Given the description of an element on the screen output the (x, y) to click on. 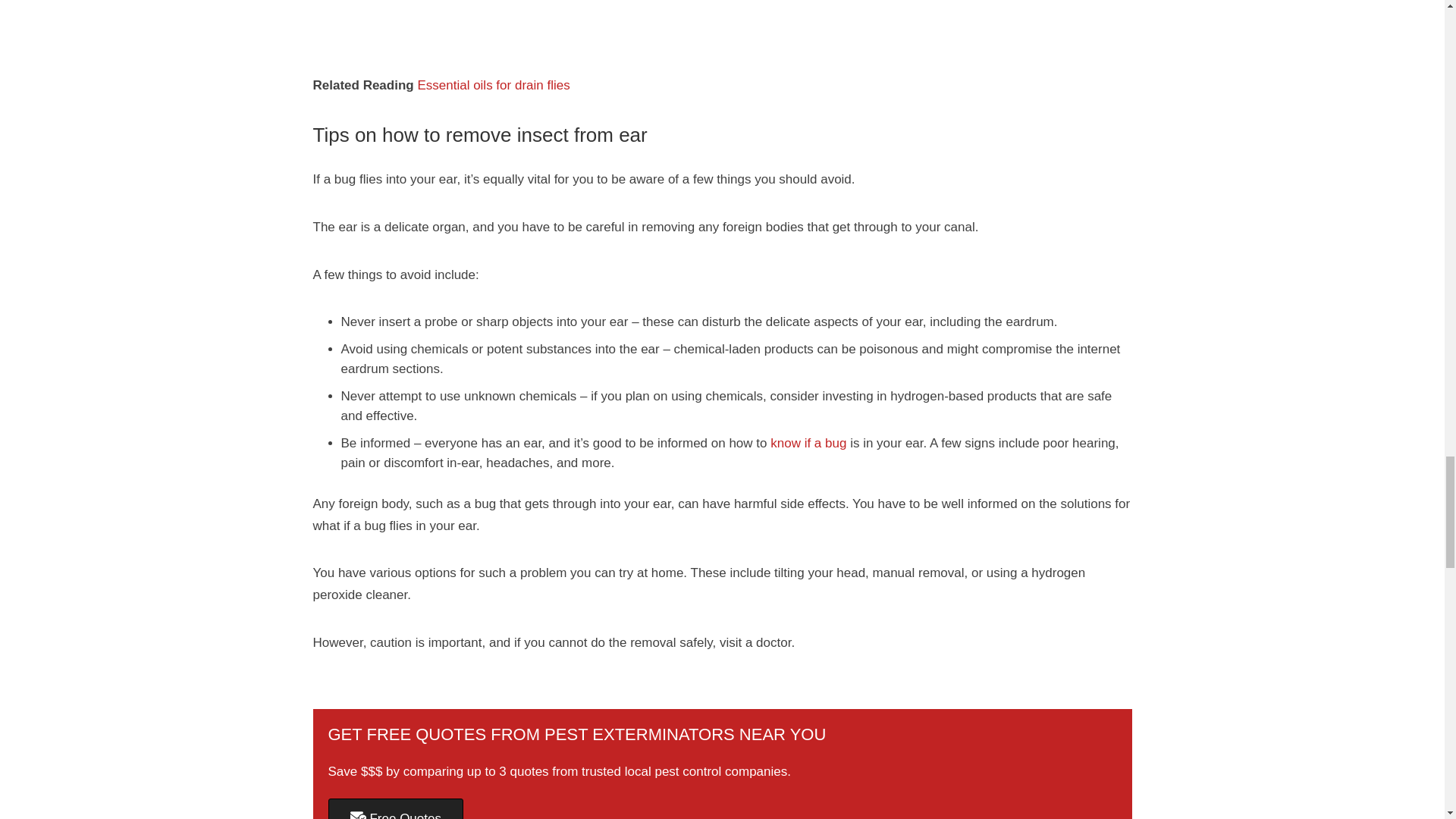
An Insect Flew Into Your Ear, What Should You Do Next? (722, 27)
Free Quotes (395, 808)
Essential oils for drain flies (492, 84)
know if a bug (807, 442)
